Given the description of an element on the screen output the (x, y) to click on. 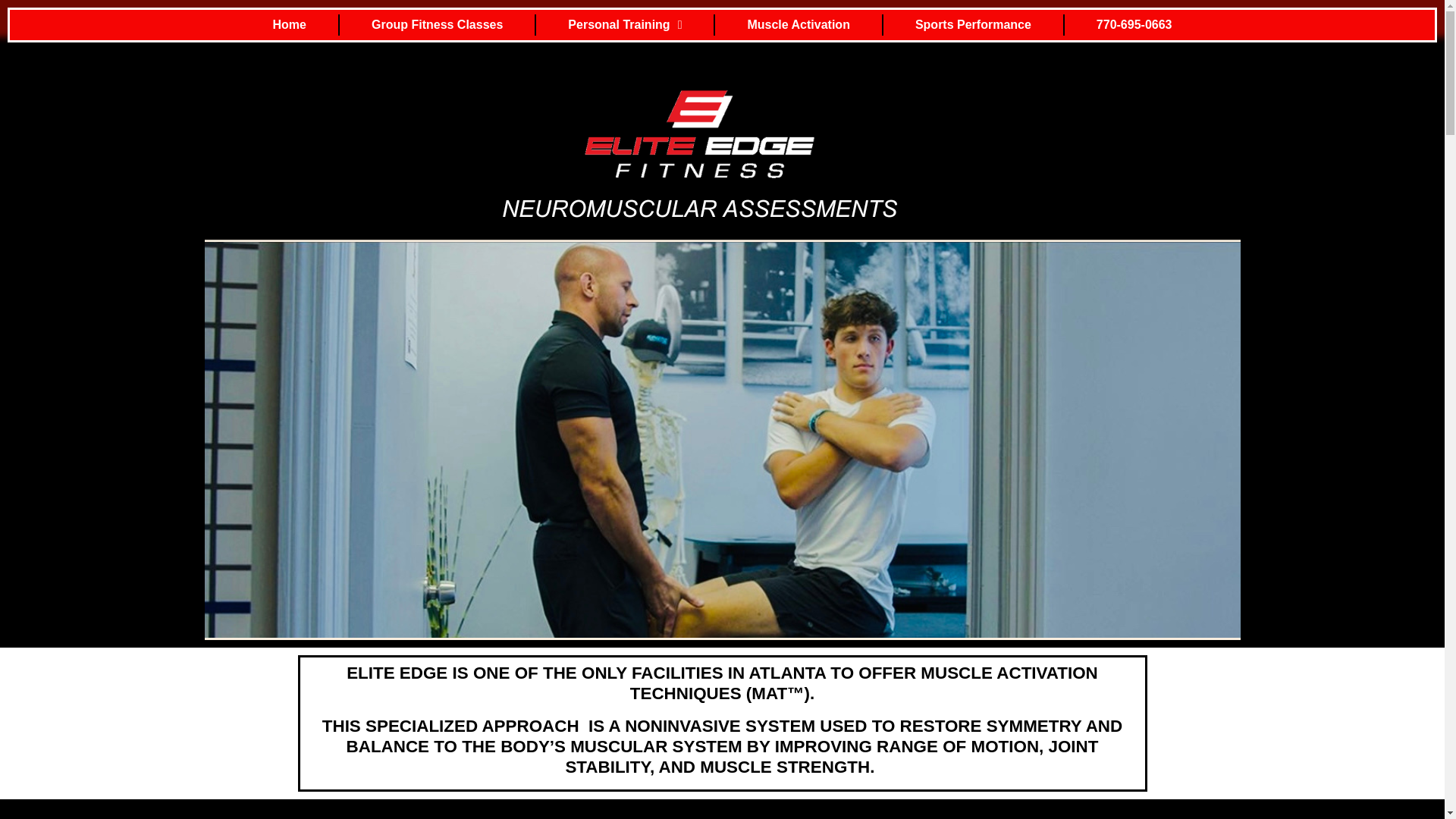
Sports Performance (973, 24)
Muscle Activation (798, 24)
770-695-0663 (1133, 24)
Personal Training (624, 24)
Home (289, 24)
Group Fitness Classes (436, 24)
